Given the description of an element on the screen output the (x, y) to click on. 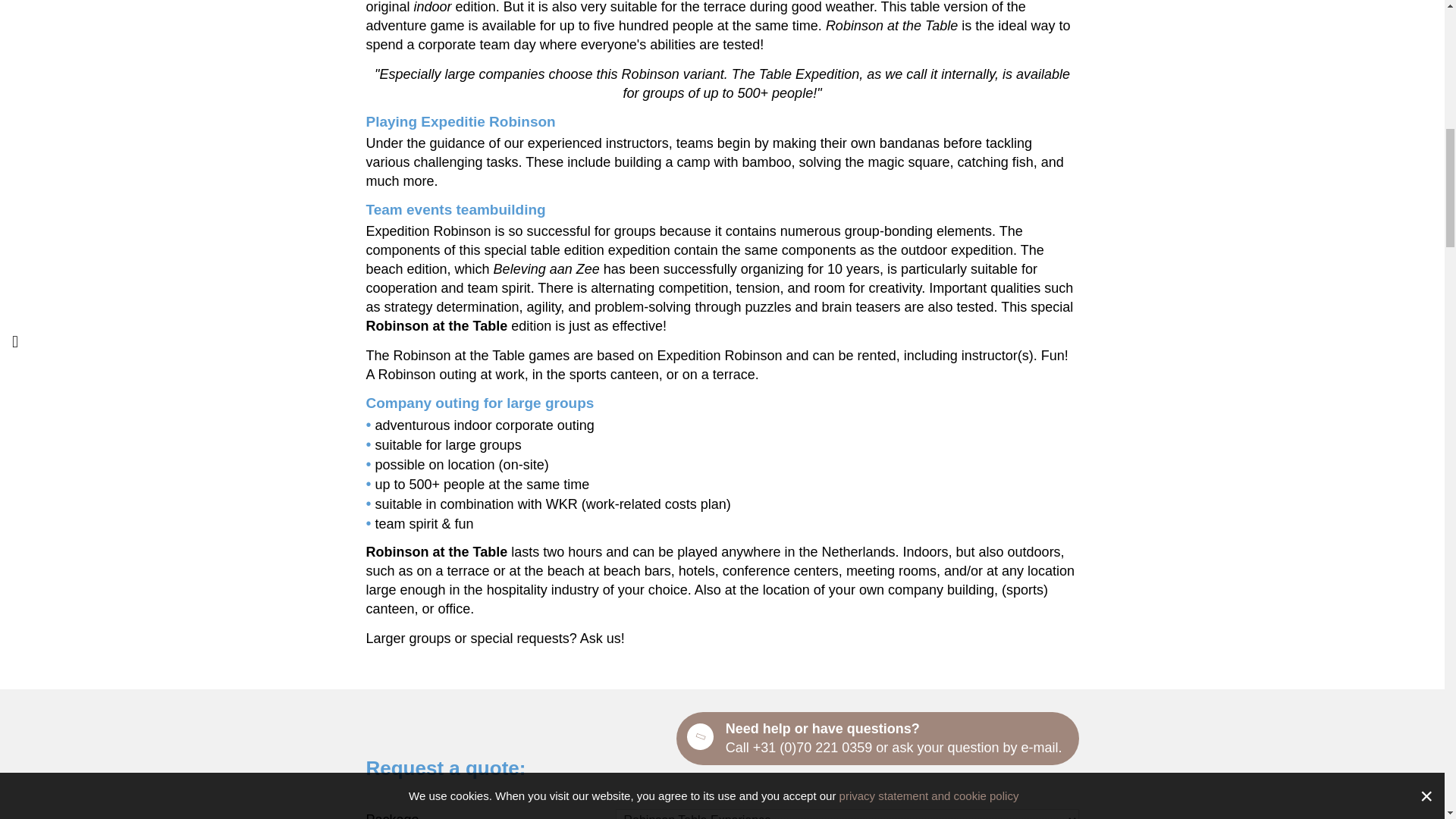
corporat event robinson (601, 638)
by e-mail (1030, 747)
Ask us! (601, 638)
